Given the description of an element on the screen output the (x, y) to click on. 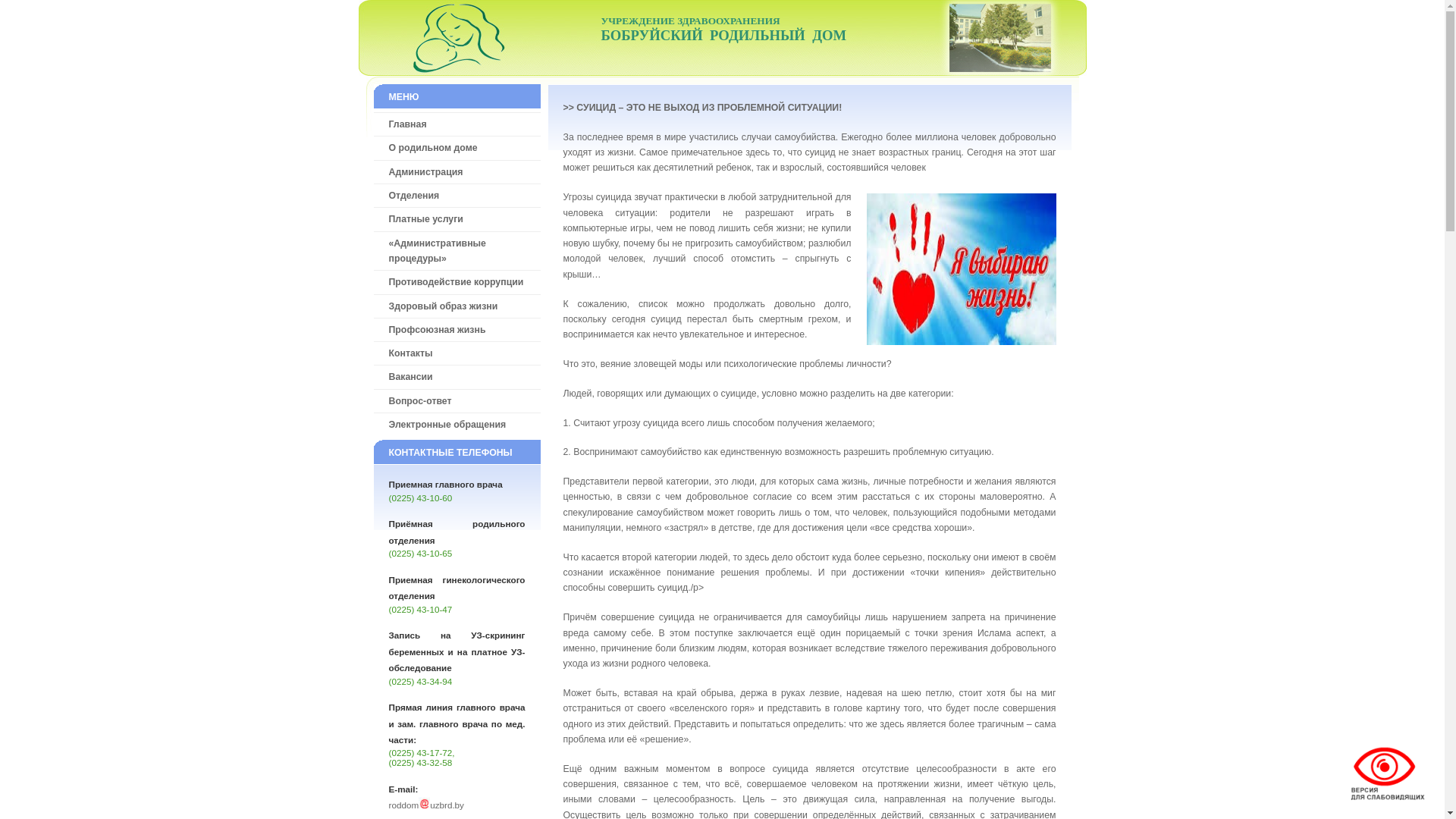
(0225) 43-34-94 Element type: text (419, 681)
(0225) 43-17-72,
(0225) 43-32-58 Element type: text (421, 757)
(0225) 43-10-47 Element type: text (419, 609)
(0225) 43-10-60 Element type: text (419, 497)
(0225) 43-10-65 Element type: text (419, 553)
